Given the description of an element on the screen output the (x, y) to click on. 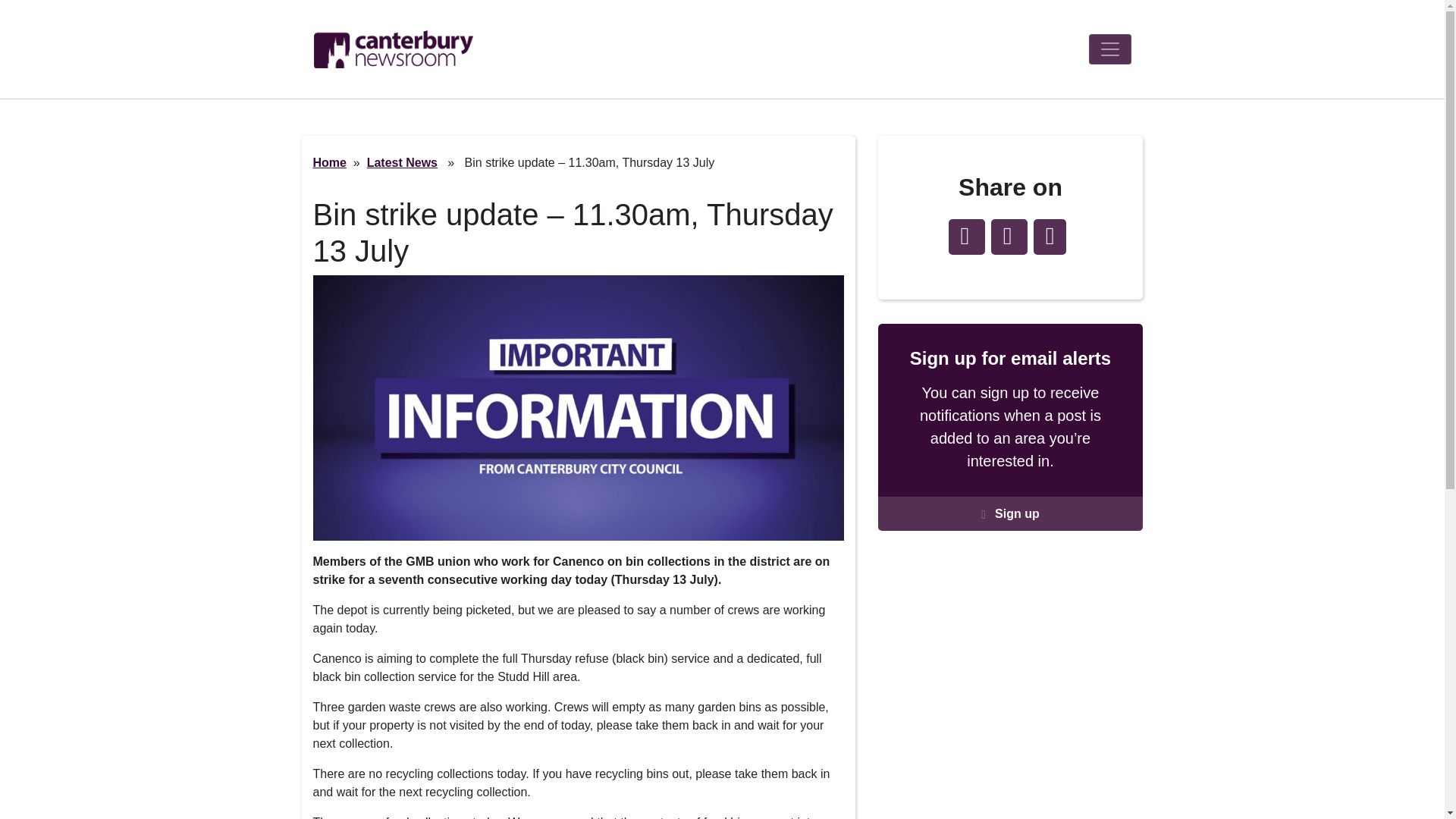
LinkedIn (1009, 236)
Facebook (965, 236)
Latest News (402, 162)
Main menu (1110, 49)
Sign up (1009, 513)
Twitter (1050, 236)
Home (329, 162)
Home (393, 48)
